Given the description of an element on the screen output the (x, y) to click on. 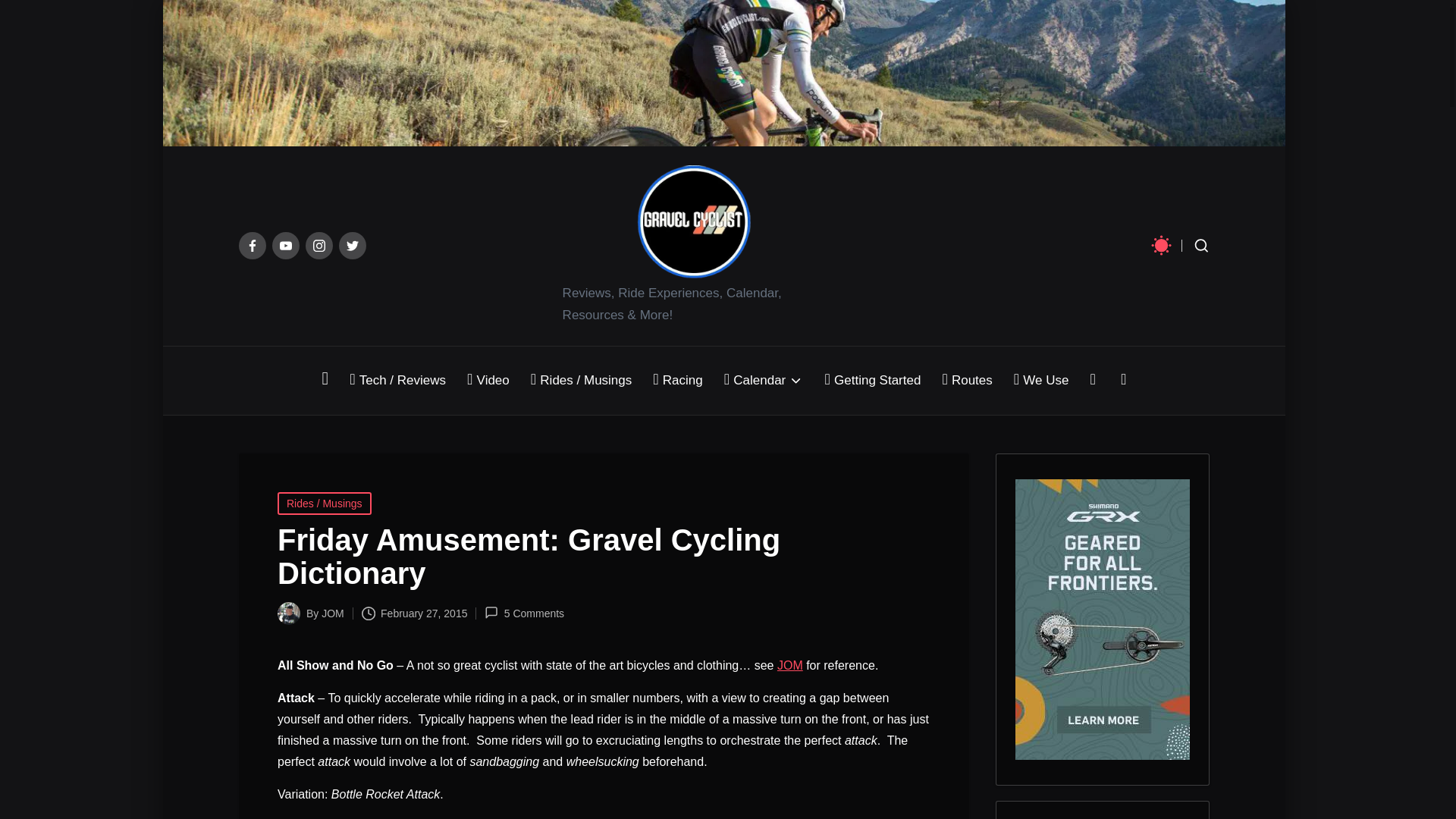
RSS (1123, 380)
Home (325, 380)
5 Comments (524, 613)
Routes (966, 380)
Cast Members (790, 665)
JOM (790, 665)
Video (488, 380)
Getting Started (872, 380)
JOM (332, 613)
Calendar (763, 380)
View all posts by JOM (332, 613)
We Use (1040, 380)
Racing (676, 380)
